Given the description of an element on the screen output the (x, y) to click on. 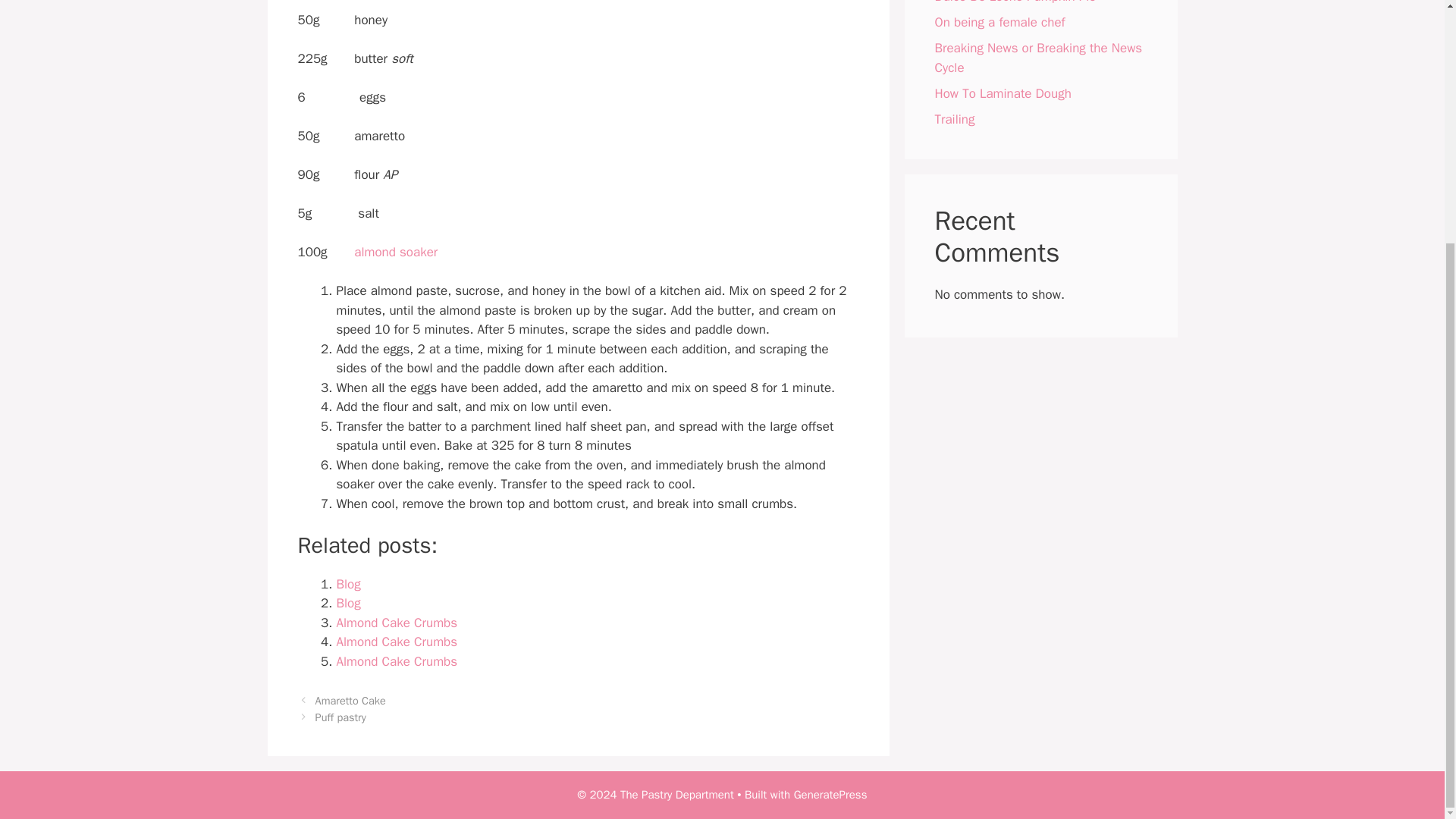
Puff pastry (340, 716)
Almond Cake Crumbs (397, 641)
Almond Cake Crumbs (397, 641)
GeneratePress (830, 794)
Blog (348, 584)
Almond Cake Crumbs (397, 622)
Almond Cake Crumbs (397, 622)
Dulce De Leche Pumpkin Pie (1015, 2)
How To Laminate Dough (1002, 92)
Blog (348, 602)
Blog (348, 602)
Trailing (954, 118)
Amaretto Cake (350, 700)
Almond Cake Crumbs (397, 661)
Almond Cake Crumbs (397, 661)
